Given the description of an element on the screen output the (x, y) to click on. 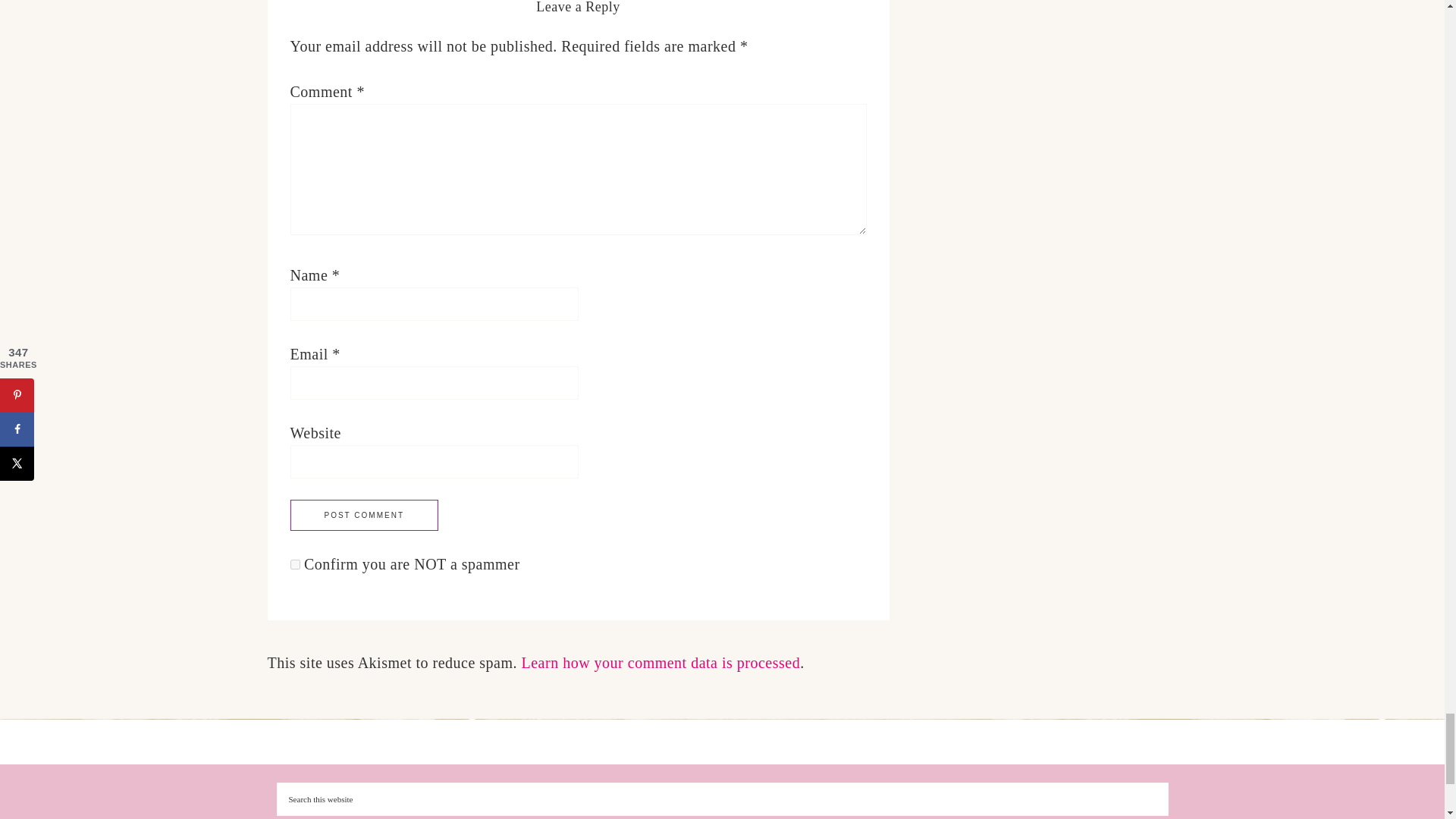
Post Comment (363, 514)
on (294, 564)
